Given the description of an element on the screen output the (x, y) to click on. 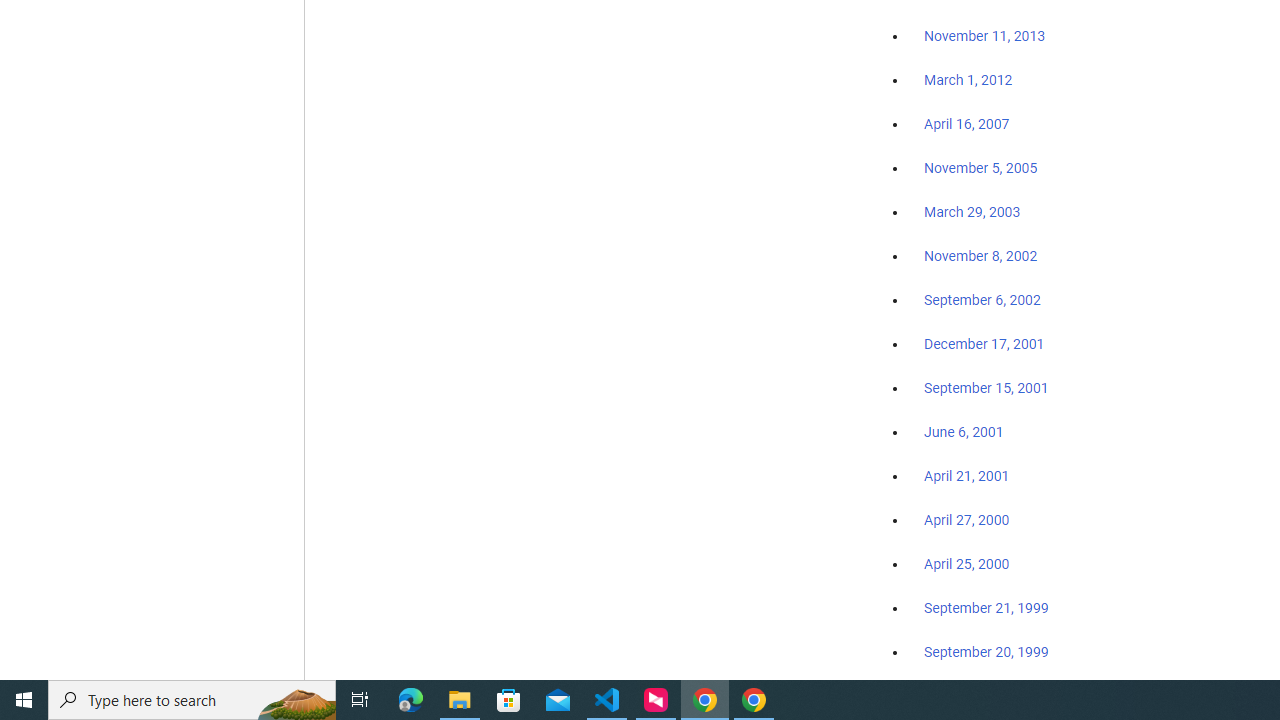
September 15, 2001 (986, 387)
March 1, 2012 (968, 81)
April 27, 2000 (966, 520)
April 16, 2007 (966, 124)
November 8, 2002 (981, 255)
April 21, 2001 (966, 476)
November 5, 2005 (981, 168)
June 6, 2001 (963, 431)
December 17, 2001 (984, 343)
November 11, 2013 (984, 37)
September 21, 1999 (986, 608)
September 20, 1999 (986, 651)
September 6, 2002 (982, 299)
April 25, 2000 (966, 564)
March 29, 2003 (972, 212)
